Given the description of an element on the screen output the (x, y) to click on. 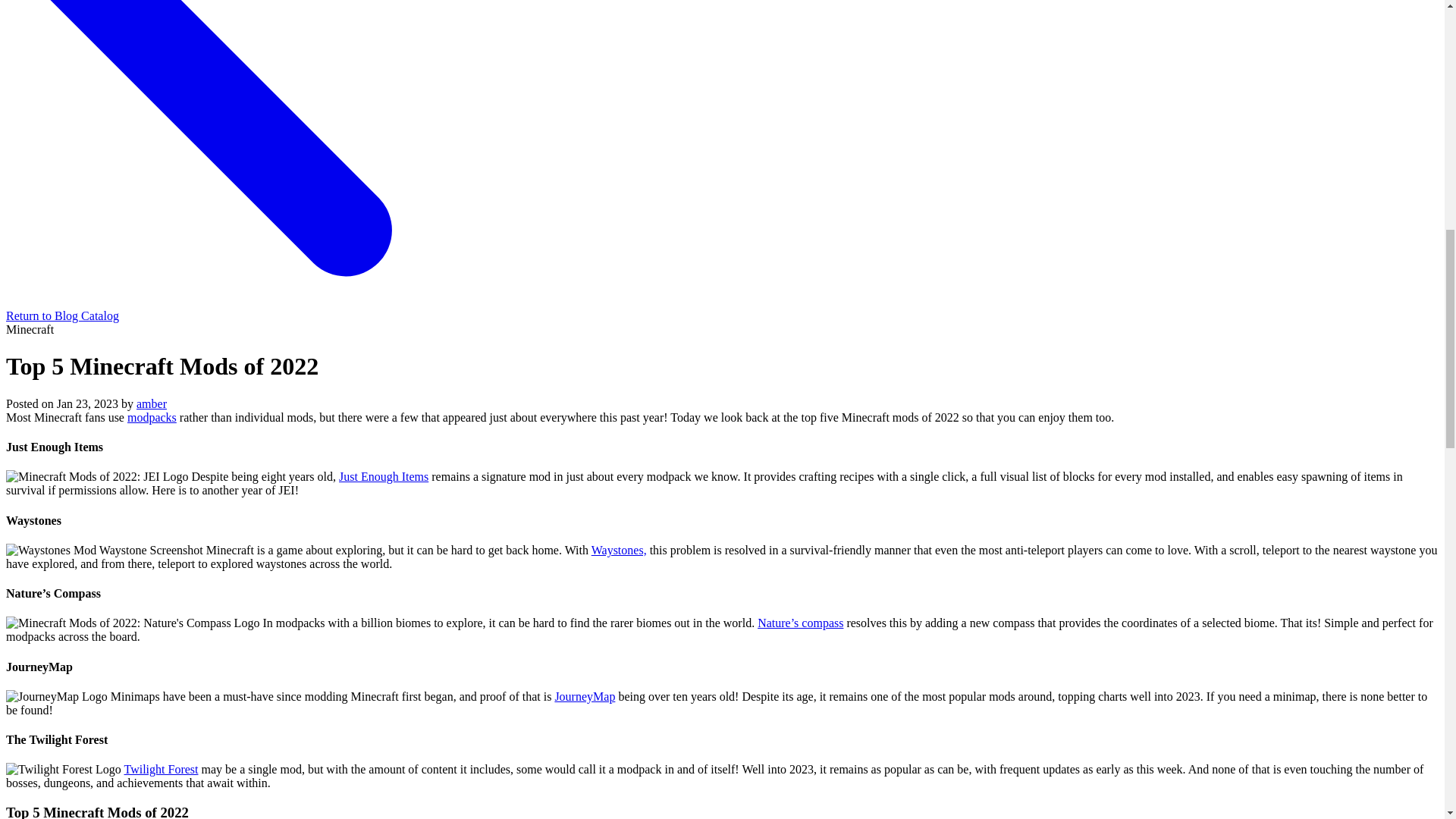
amber (151, 403)
JourneyMap (584, 696)
modpacks (152, 417)
Waystones, (618, 549)
Twilight Forest (160, 768)
Just Enough Items (383, 476)
